Given the description of an element on the screen output the (x, y) to click on. 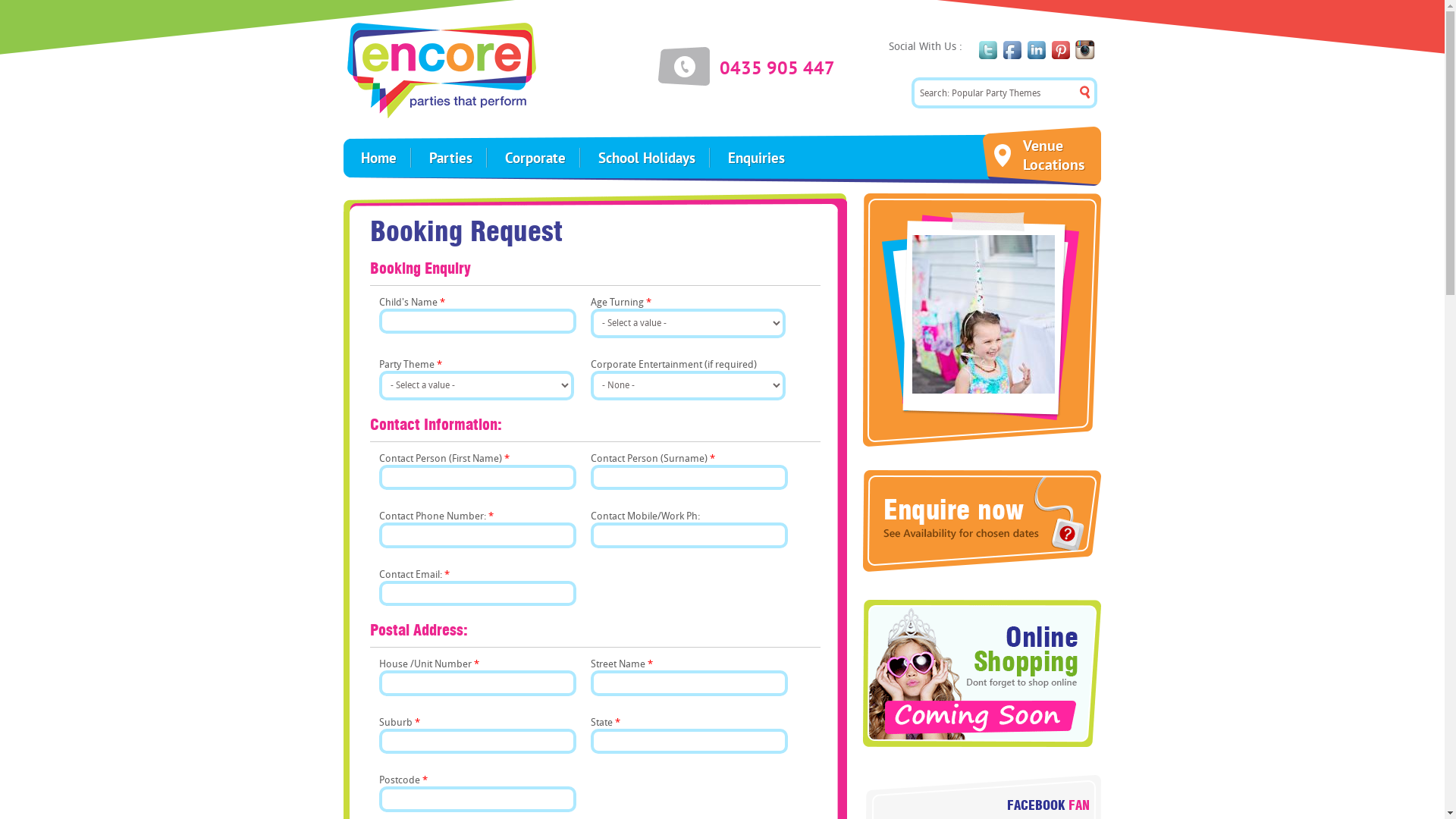
Enquiries Element type: text (755, 157)
School Holidays Element type: text (645, 157)
Home Element type: text (377, 157)
Search Element type: text (337, 7)
Parties Element type: text (449, 157)
Corporate Element type: text (534, 157)
Visit Us On Linkedin Element type: hover (1036, 52)
Enter the terms you wish to search for. Element type: hover (1003, 93)
Back to Home Page Element type: hover (441, 70)
Visit Us On Facebook Element type: hover (1012, 52)
Visit Us On Instagram Element type: hover (1085, 52)
Visit Us On Pinterest Element type: hover (1060, 52)
Venue
Locations Element type: text (1040, 155)
Visit Us On Twitter Element type: hover (987, 52)
